Given the description of an element on the screen output the (x, y) to click on. 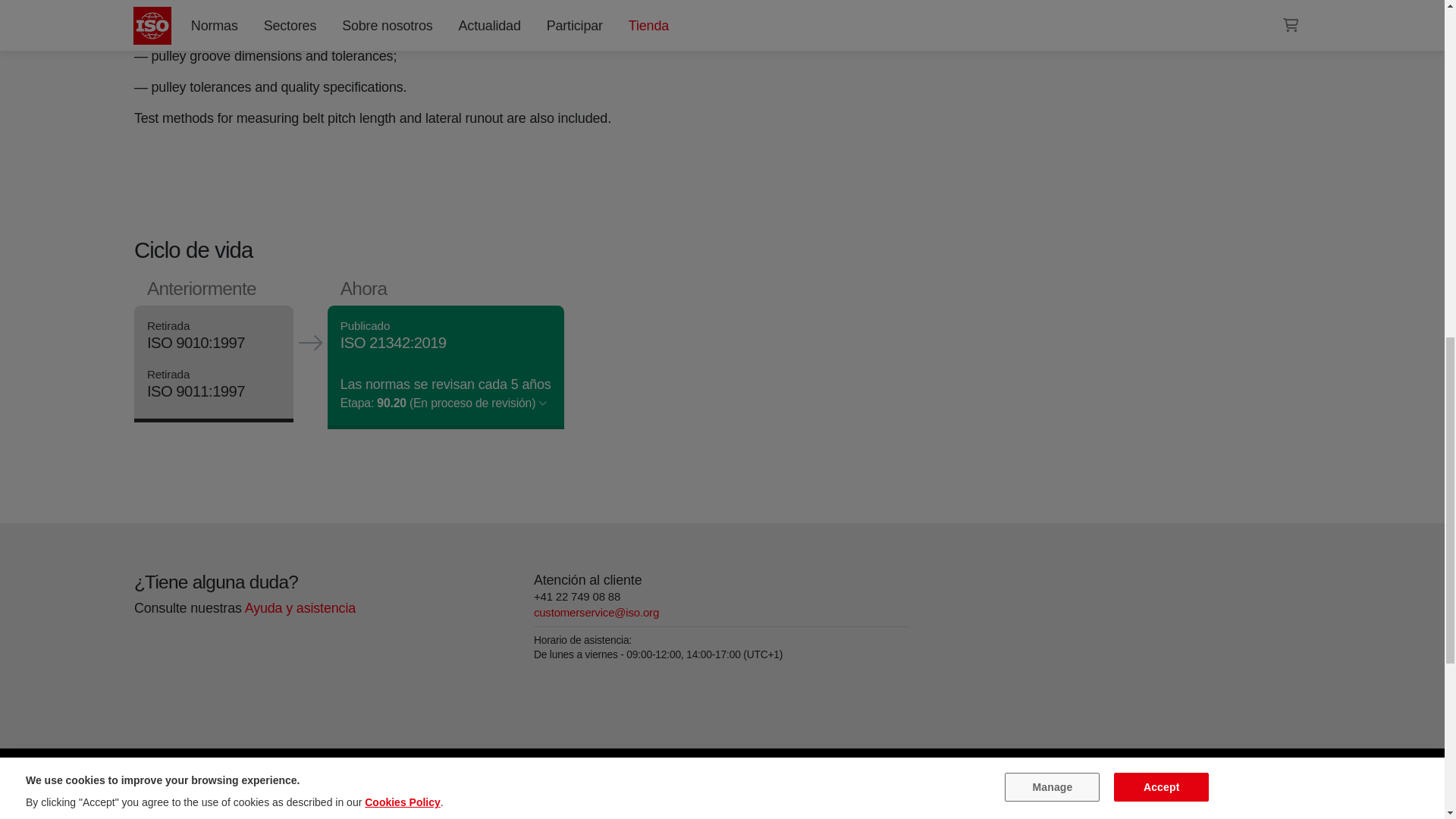
Belt drives and their components (997, 1)
21.220.10 (997, 1)
Engine block and internal components (1063, 1)
